Given the description of an element on the screen output the (x, y) to click on. 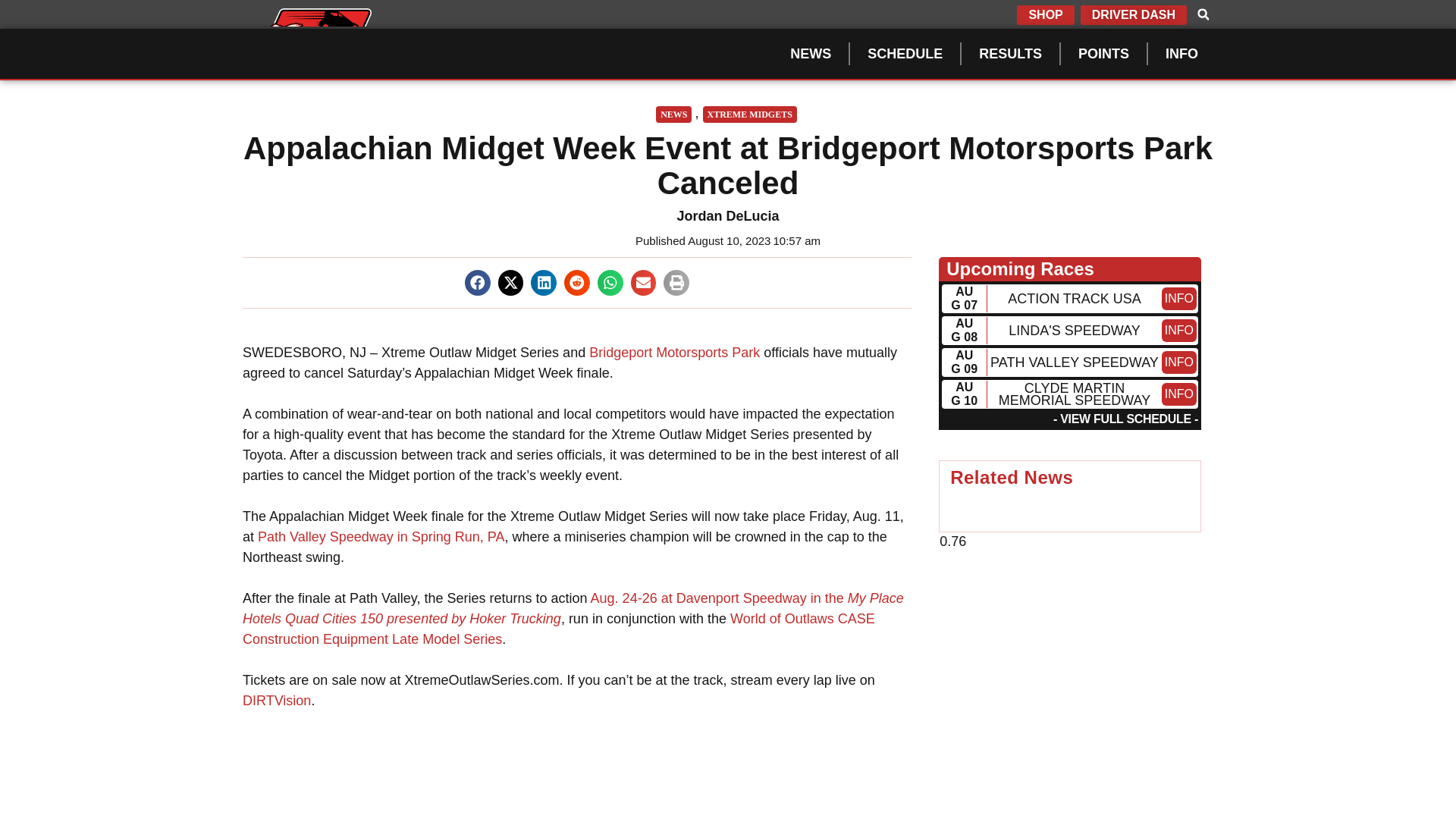
INFO (1178, 330)
Jordan DeLucia (727, 216)
Path Valley Speedway in Spring Run, PA (381, 536)
NEWS (809, 53)
VIEW FULL SCHEDULE (1125, 418)
INFO (1181, 53)
SCHEDULE (904, 53)
NEWS (673, 114)
Bridgeport Motorsports Park (674, 352)
